Given the description of an element on the screen output the (x, y) to click on. 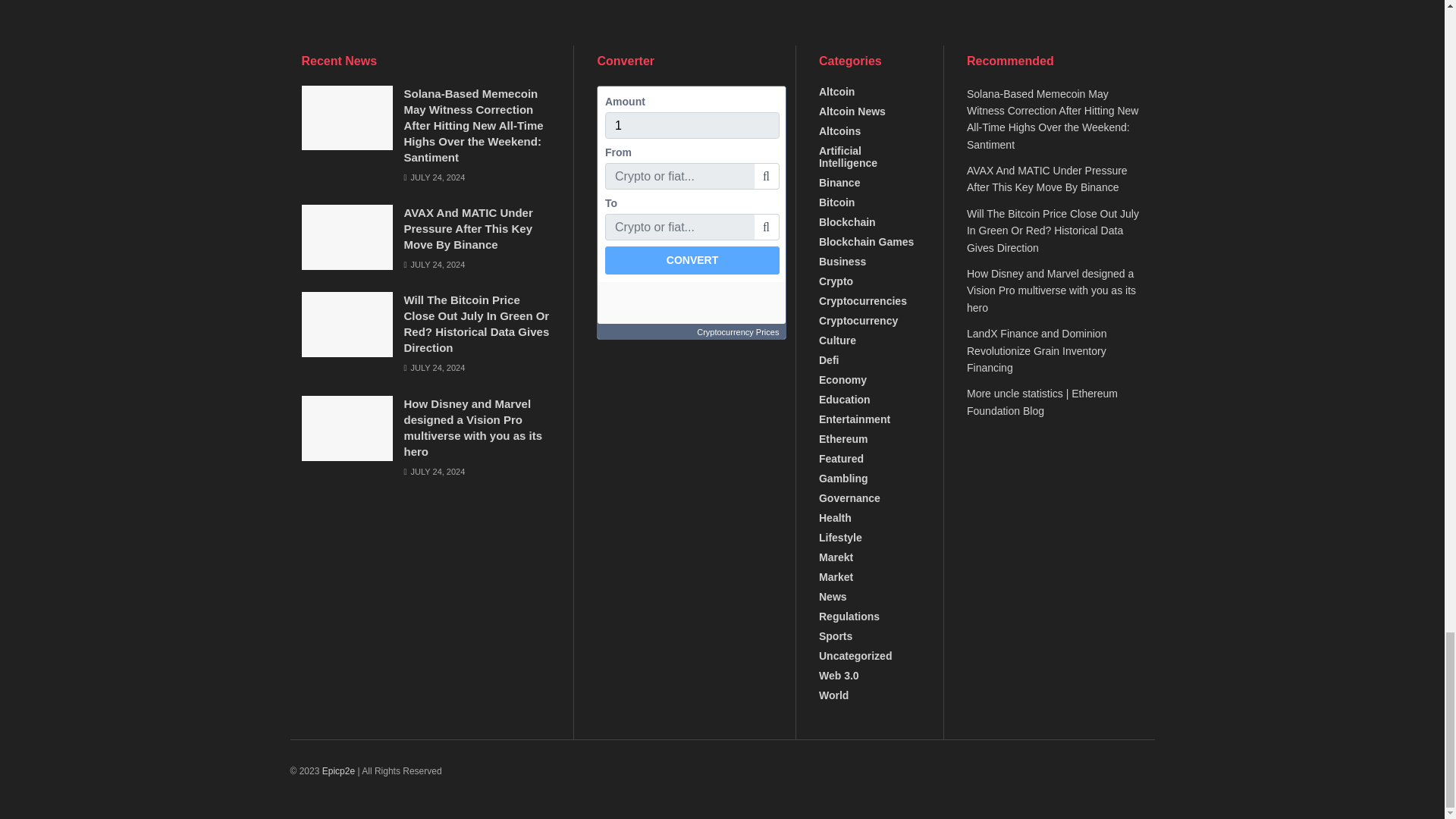
Premium news  (338, 770)
